Given the description of an element on the screen output the (x, y) to click on. 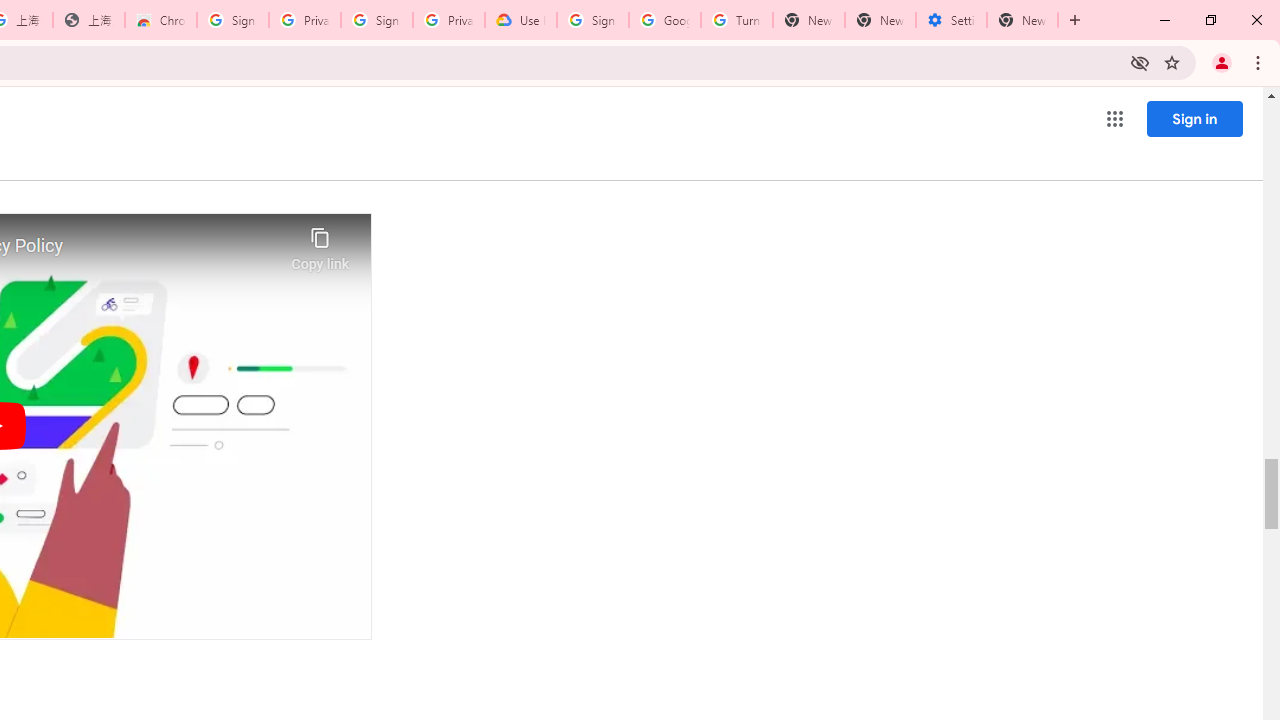
Google Account Help (664, 20)
Sign in - Google Accounts (232, 20)
Settings - System (951, 20)
Copy link (319, 244)
Chrome Web Store - Color themes by Chrome (161, 20)
Turn cookies on or off - Computer - Google Account Help (737, 20)
New Tab (1022, 20)
